Given the description of an element on the screen output the (x, y) to click on. 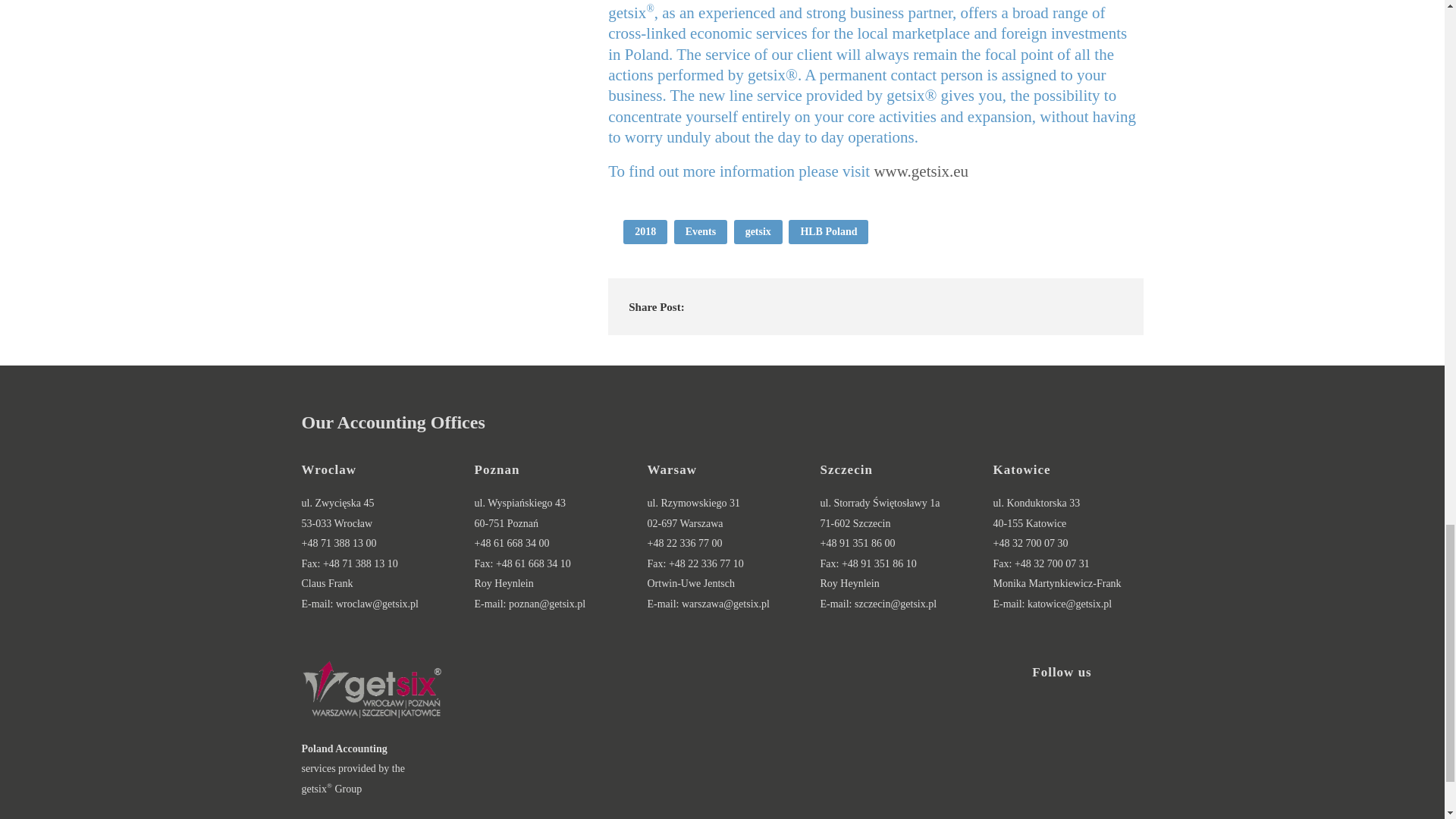
getsix Instagram (1116, 736)
getsix Facebook (1007, 736)
getsix Linkedin (1061, 736)
getsix Issuu (1088, 797)
getsix-logo (371, 690)
getsix Youtube (1035, 797)
